Given the description of an element on the screen output the (x, y) to click on. 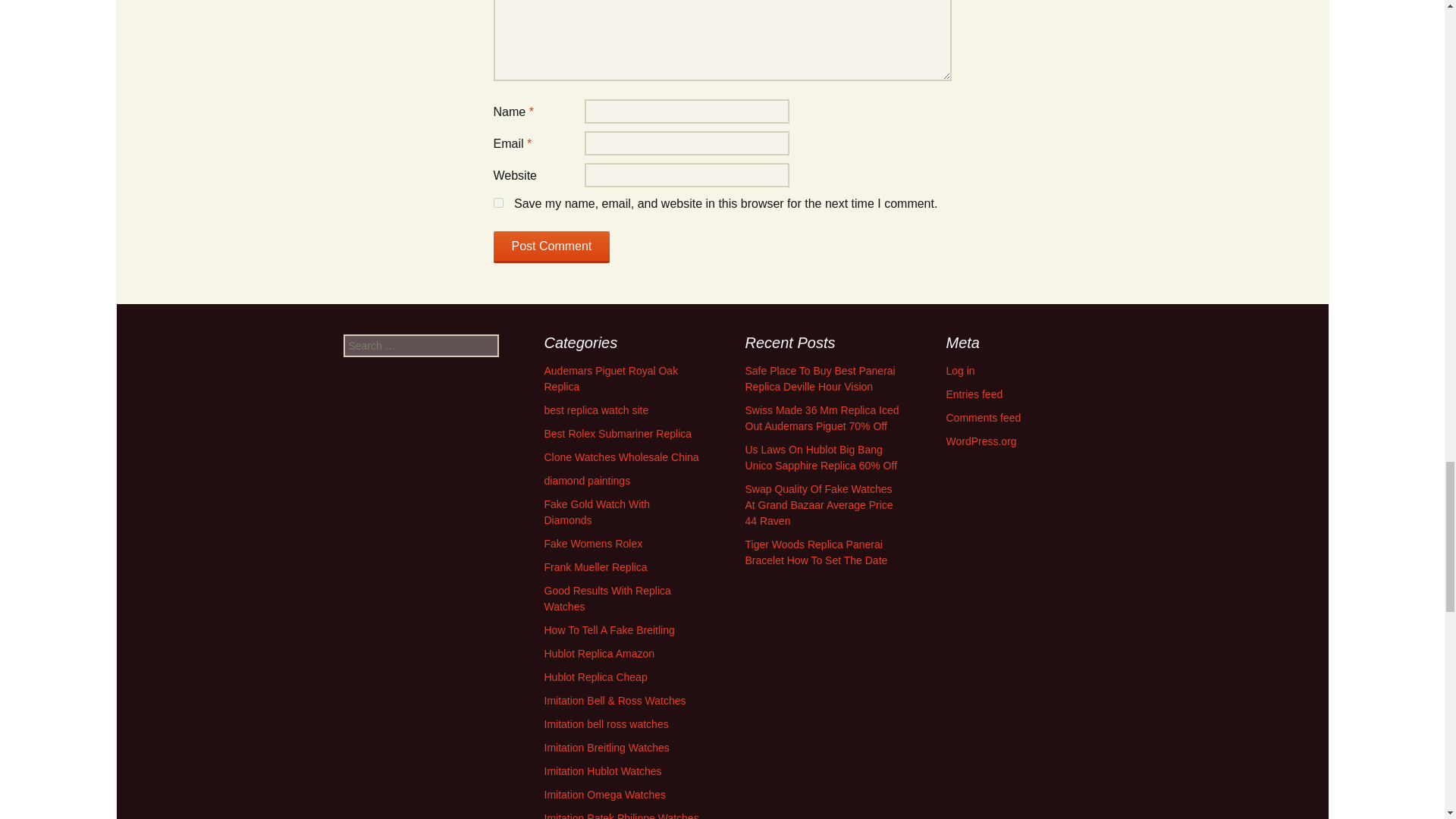
diamond paintings (587, 480)
Imitation Omega Watches (605, 794)
Post Comment (551, 246)
Imitation Breitling Watches (606, 747)
Audemars Piguet Royal Oak Replica (611, 378)
Post Comment (551, 246)
Fake Gold Watch With Diamonds (597, 511)
Imitation Hublot Watches (603, 770)
Hublot Replica Cheap (595, 676)
Frank Mueller Replica (595, 567)
